Given the description of an element on the screen output the (x, y) to click on. 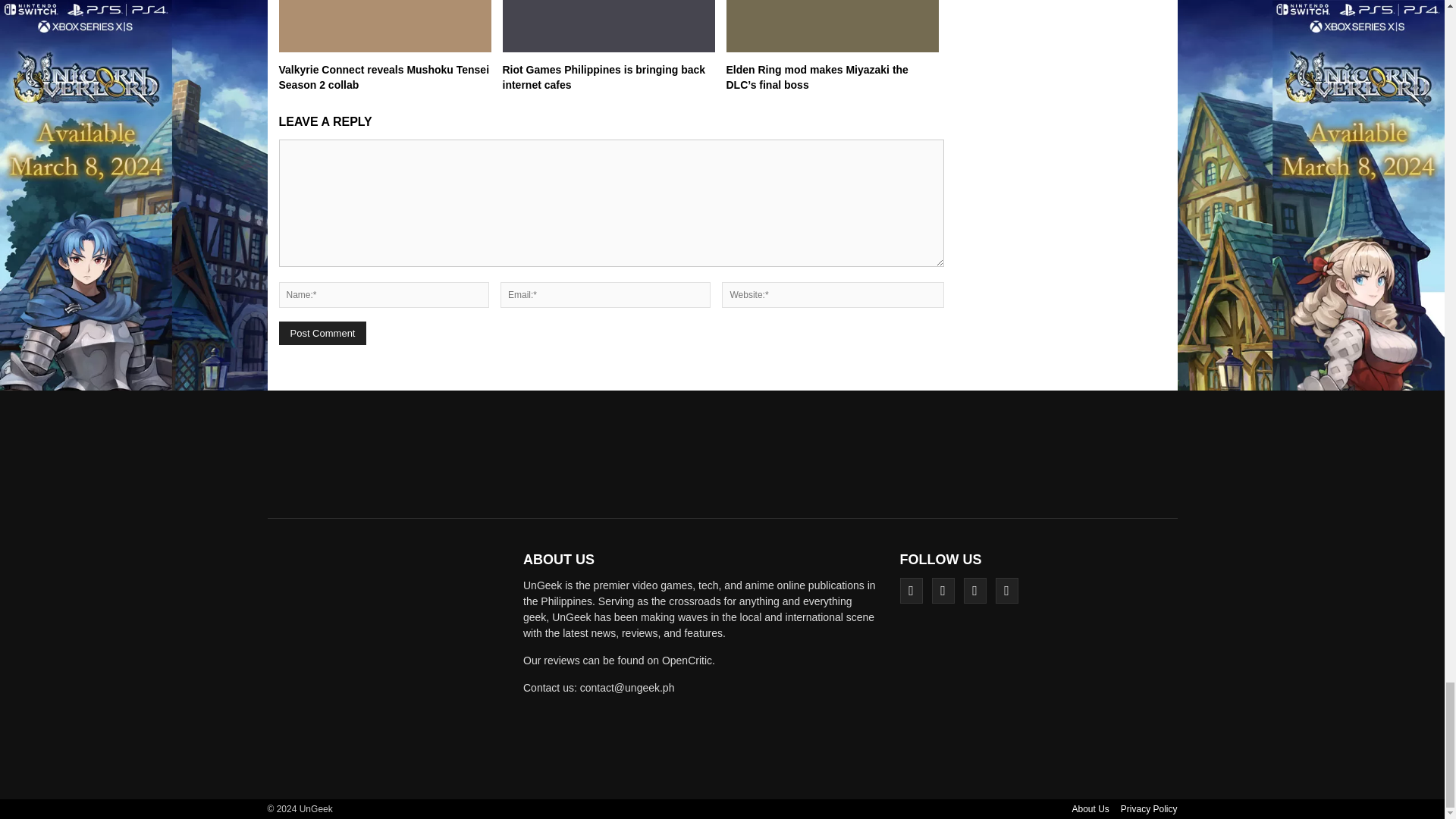
Post Comment (322, 332)
UnGeek (389, 663)
